Given the description of an element on the screen output the (x, y) to click on. 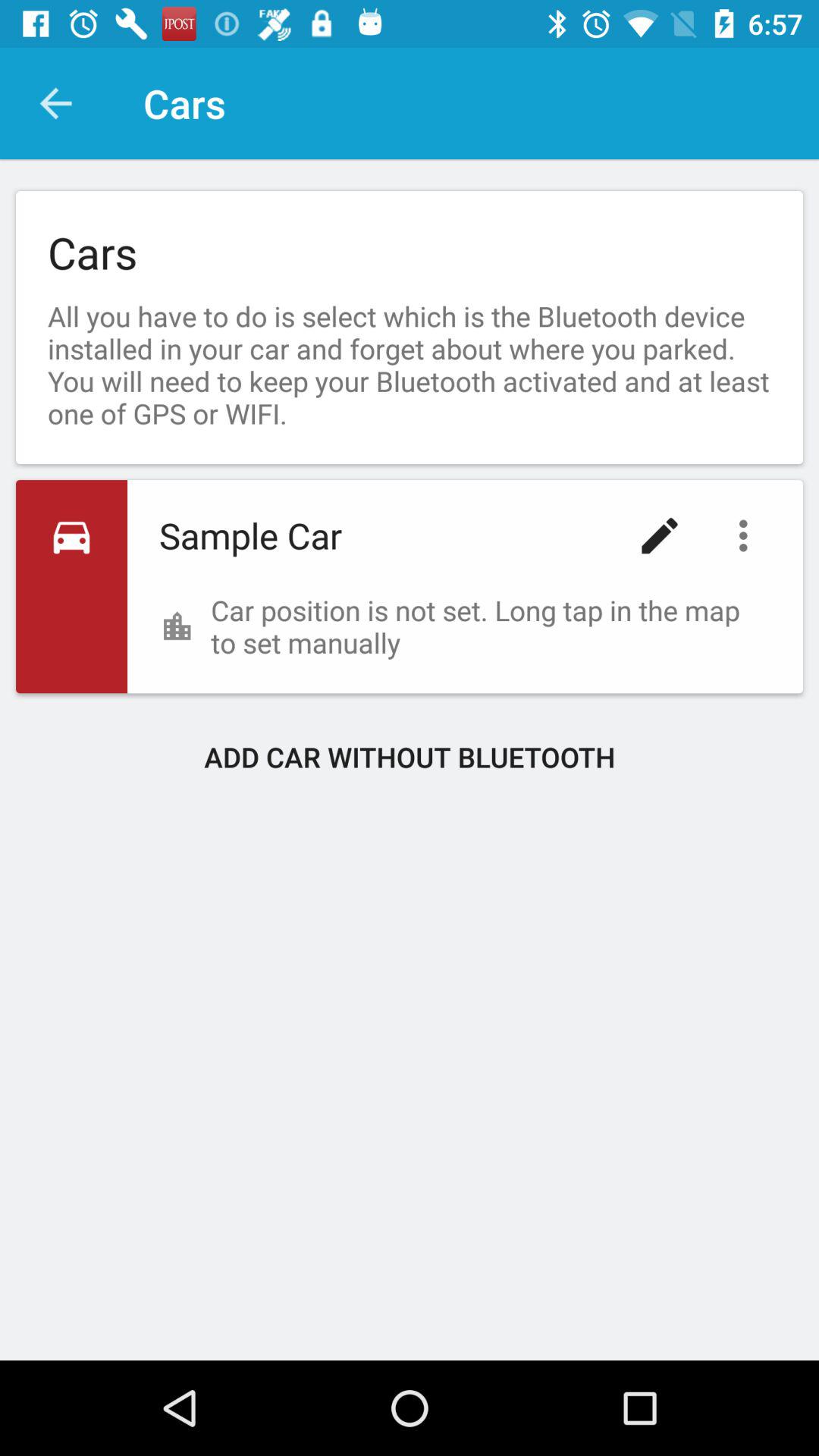
choose item above the cars item (55, 103)
